Given the description of an element on the screen output the (x, y) to click on. 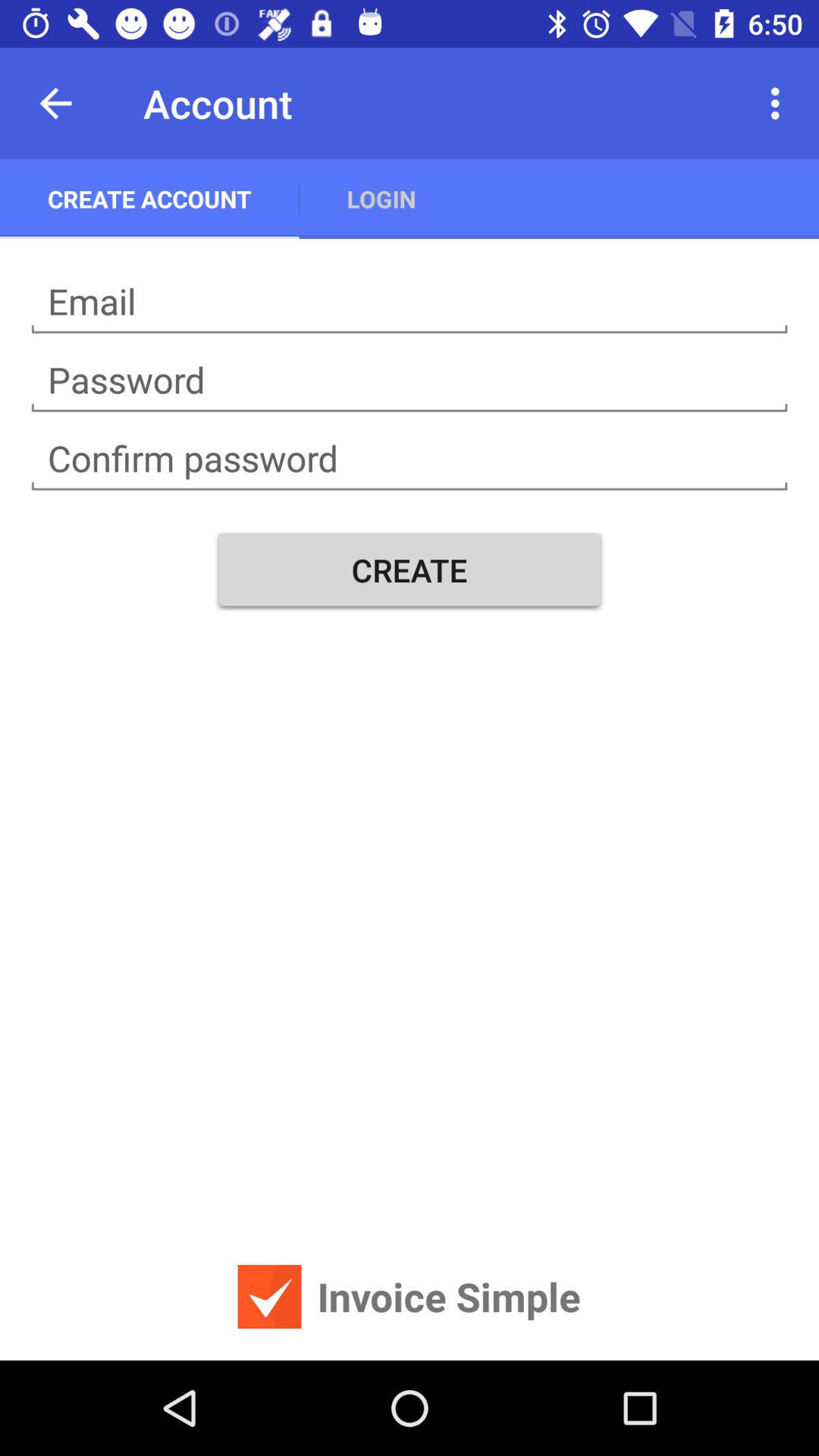
go to email (409, 301)
